Given the description of an element on the screen output the (x, y) to click on. 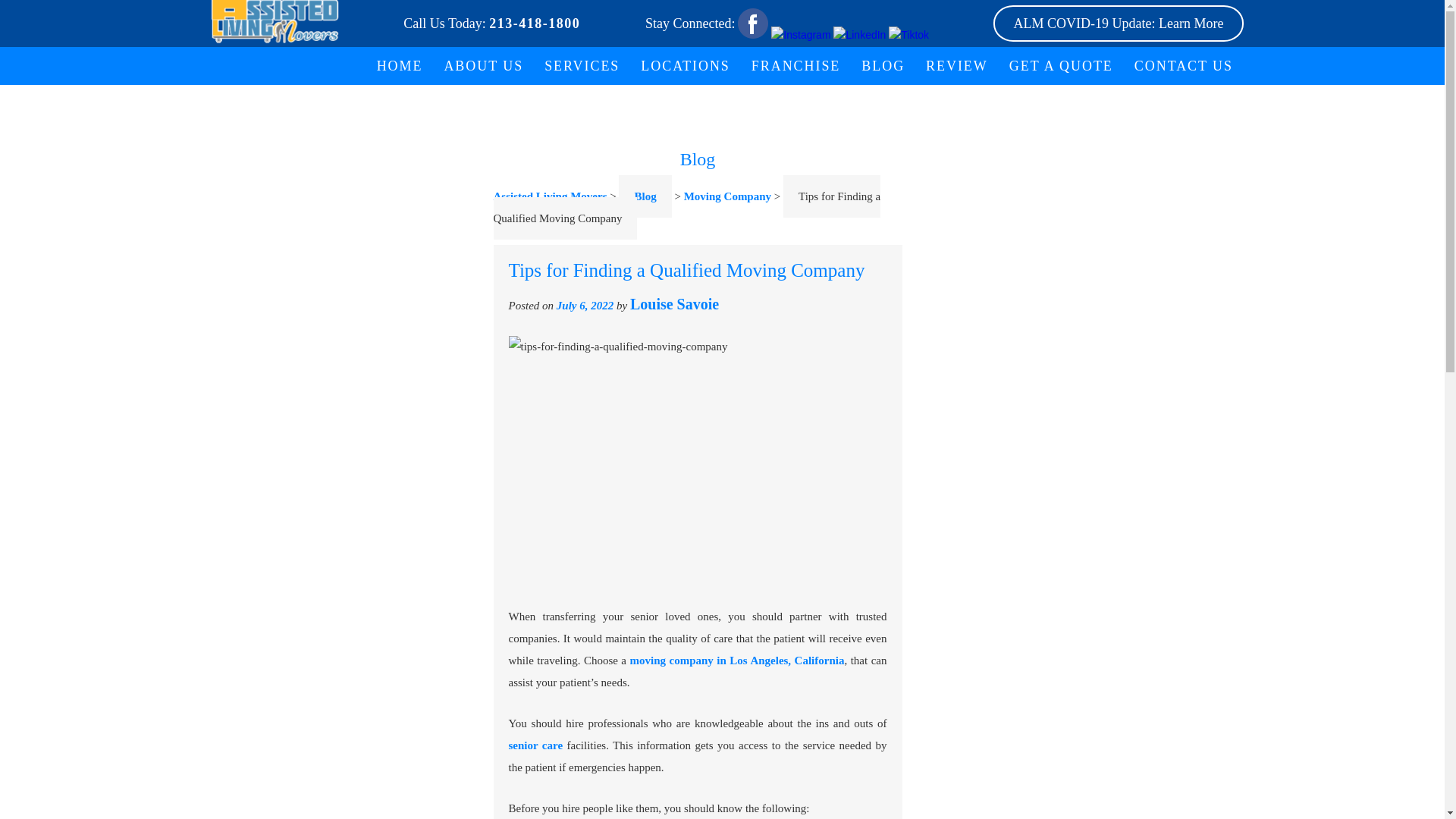
senior care (535, 745)
Go to Blog. (644, 196)
HOME (399, 65)
Go to Assisted Living Movers. (550, 196)
Louise Savoie (674, 303)
FRANCHISE (796, 65)
Blog (644, 196)
LOCATIONS (685, 65)
July 6, 2022 (584, 305)
Go to the Moving Company category archives. (727, 196)
